Given the description of an element on the screen output the (x, y) to click on. 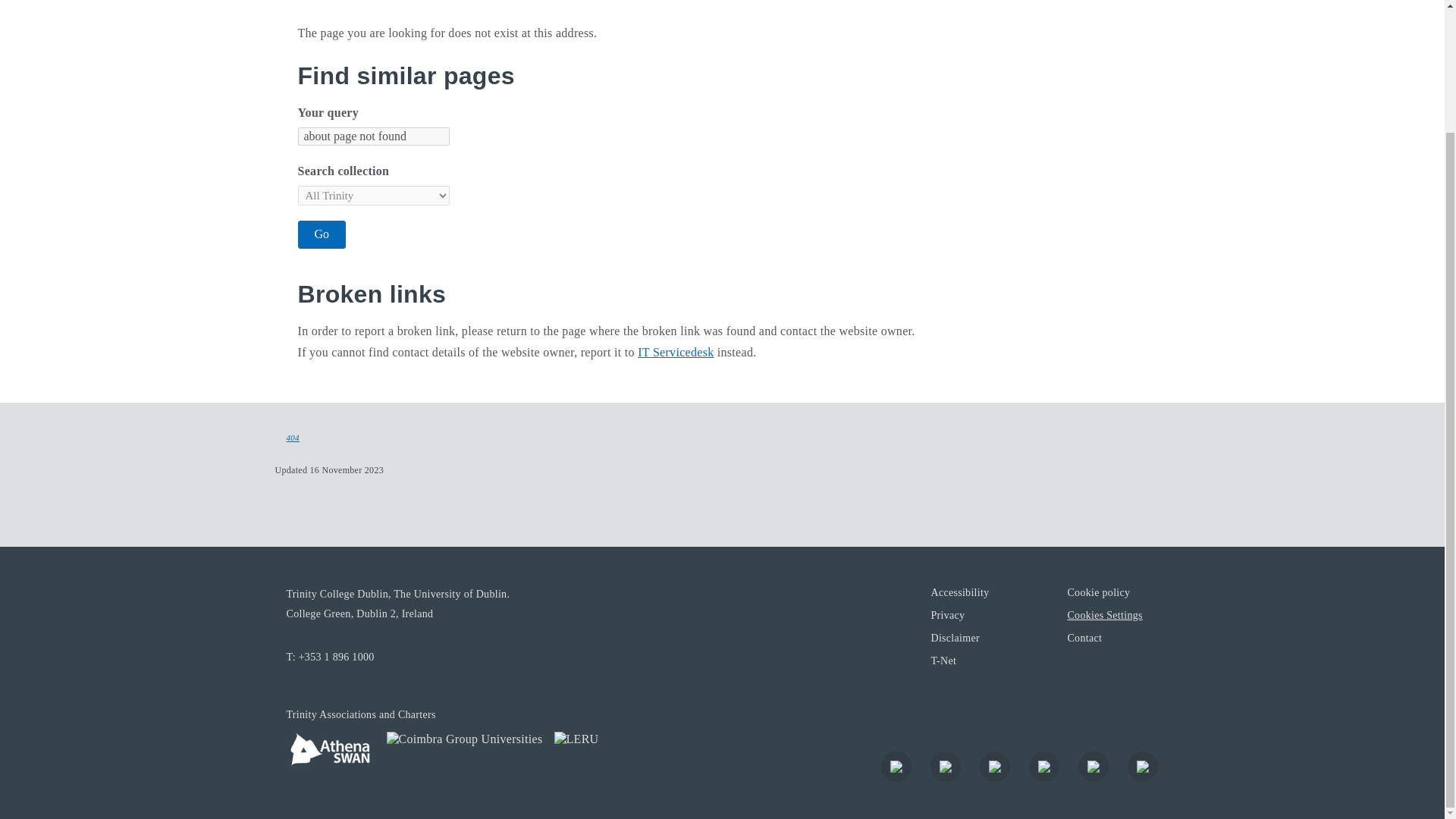
 about page not found  (372, 136)
Accessibility (959, 591)
 about page not found  (372, 136)
IT Servicedesk (675, 351)
Go (321, 234)
Go (321, 234)
Cookies Settings (1104, 614)
404 (292, 438)
T-Net (943, 659)
Disclaimer (954, 636)
